Given the description of an element on the screen output the (x, y) to click on. 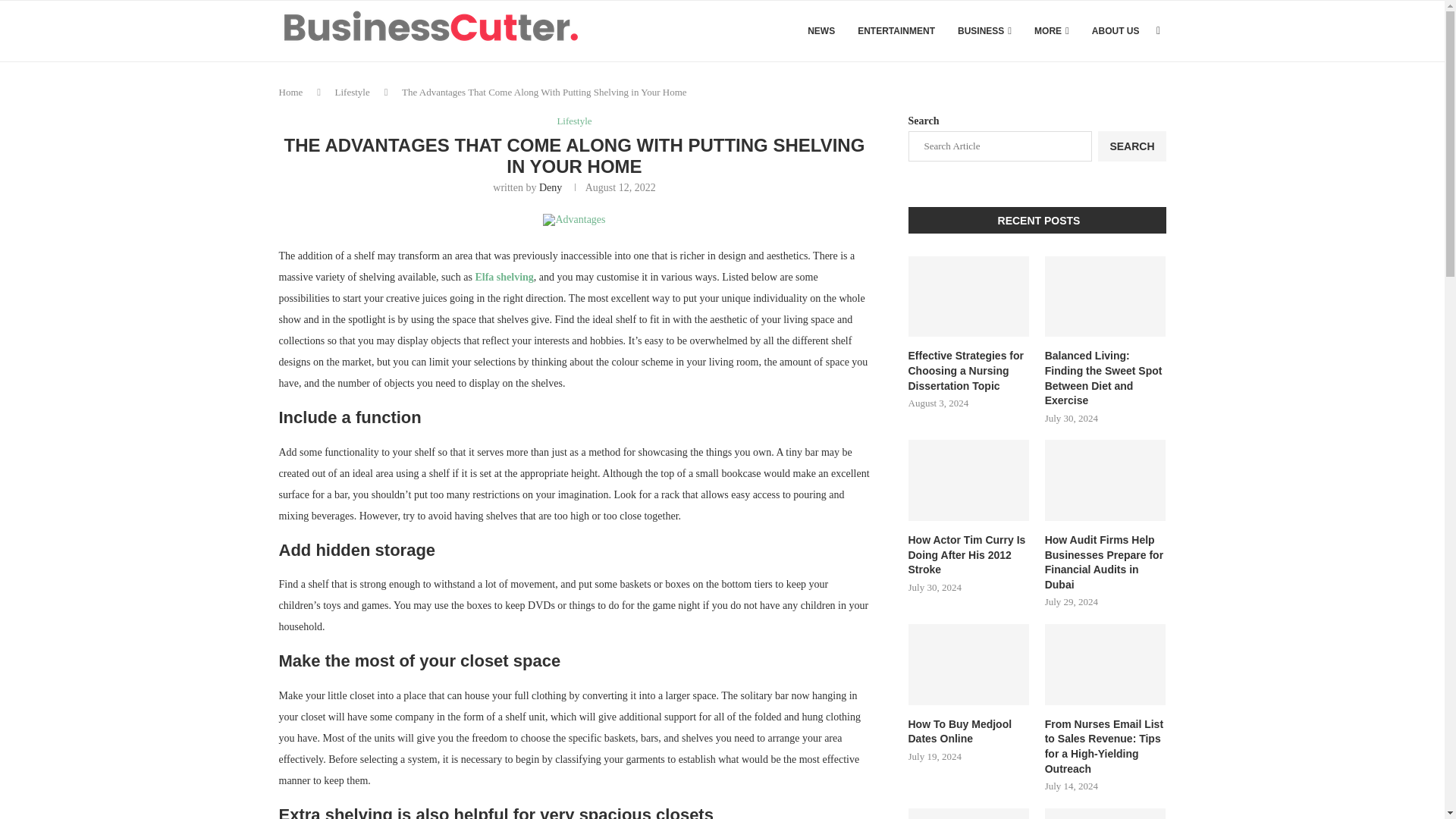
ABOUT US (1116, 30)
MORE (1050, 30)
BUSINESS (984, 30)
NEWS (821, 30)
Lifestyle (351, 91)
Lifestyle (573, 121)
Deny (550, 187)
Elfa shelving (503, 276)
Home (290, 91)
ENTERTAINMENT (895, 30)
